Given the description of an element on the screen output the (x, y) to click on. 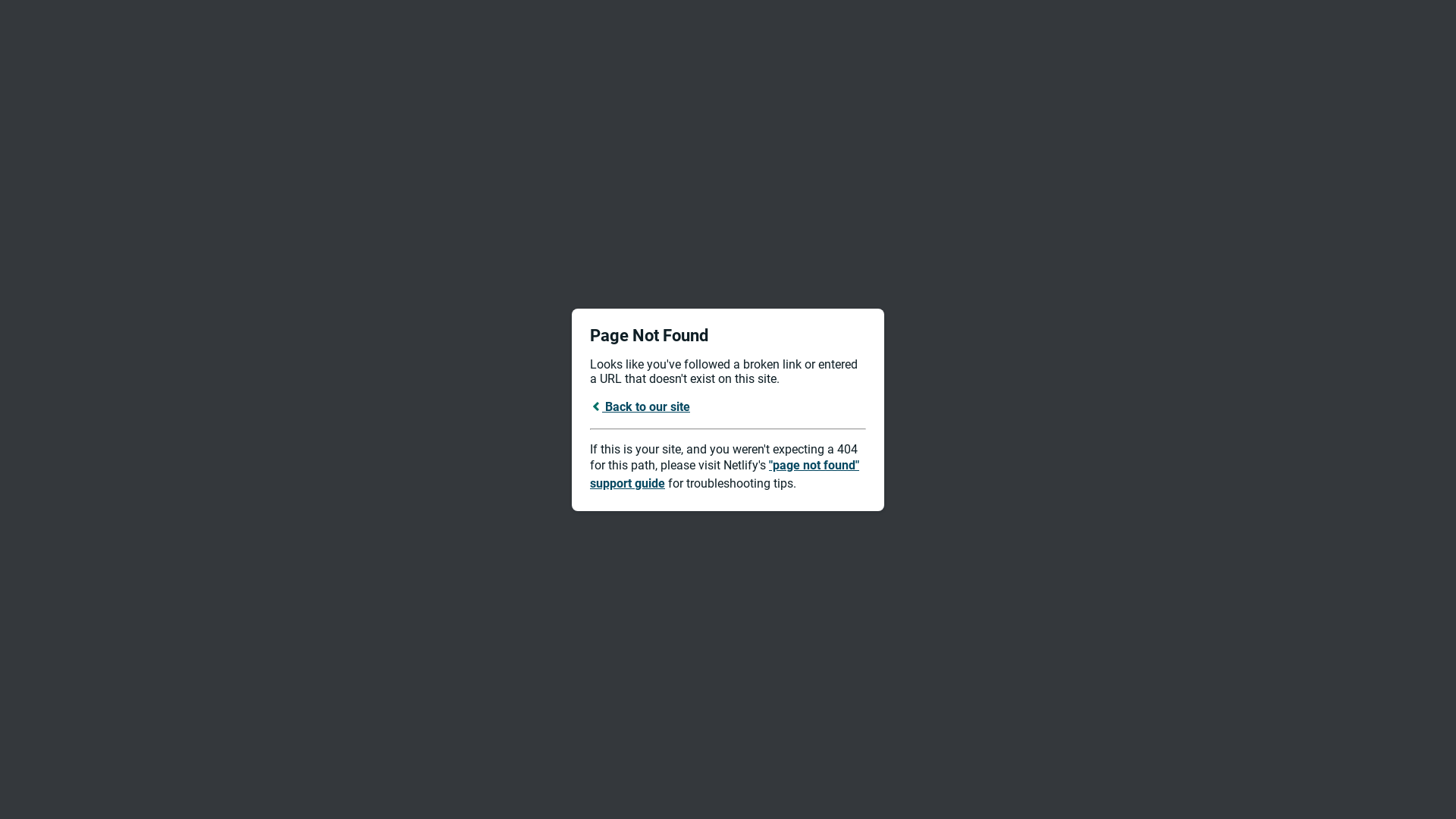
"page not found" support guide Element type: text (724, 474)
Back to our site Element type: text (639, 405)
